Given the description of an element on the screen output the (x, y) to click on. 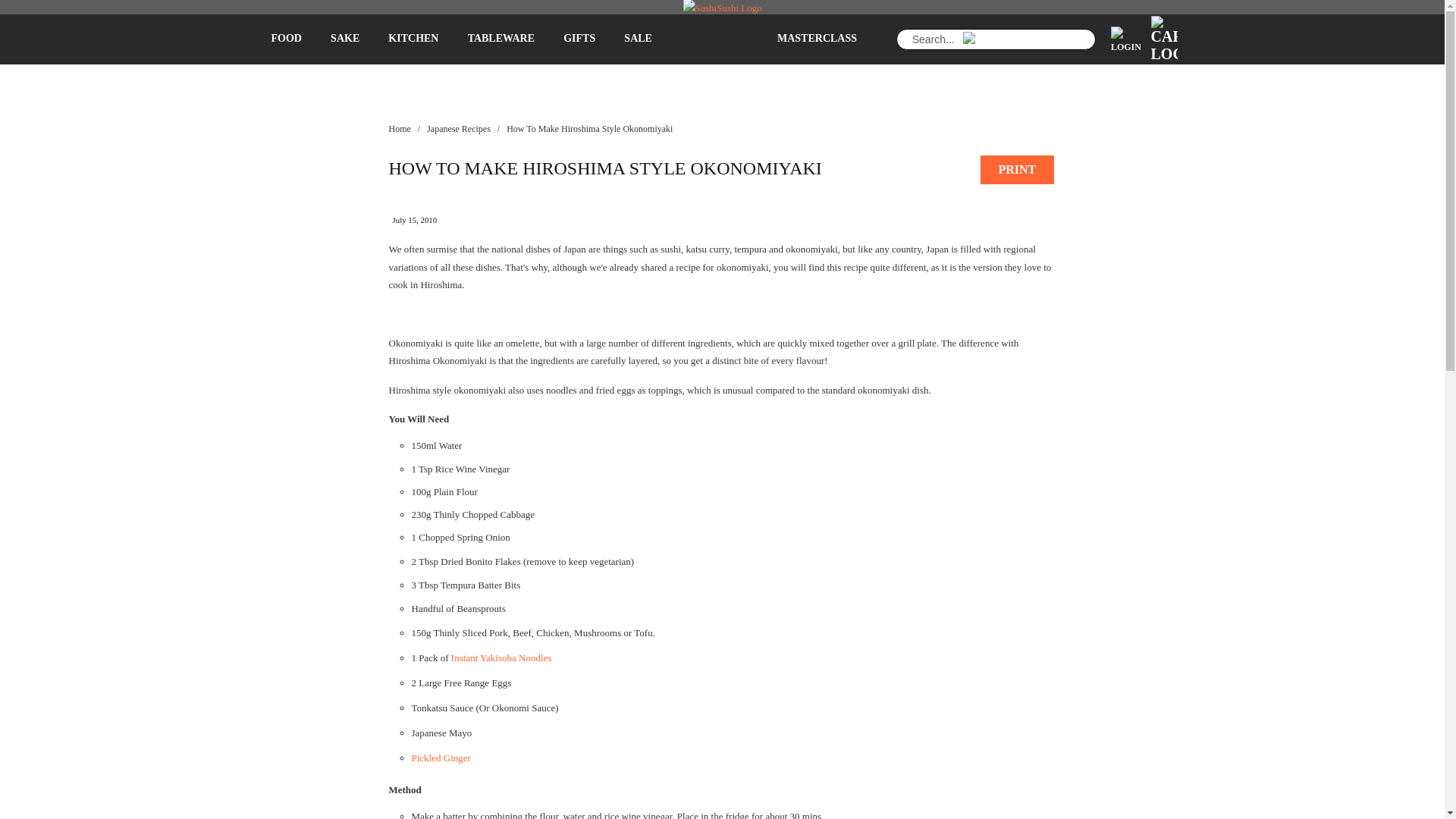
FOOD (285, 38)
 Print  (1016, 169)
Japanese Recipes (458, 128)
SushiSushi (399, 128)
